Given the description of an element on the screen output the (x, y) to click on. 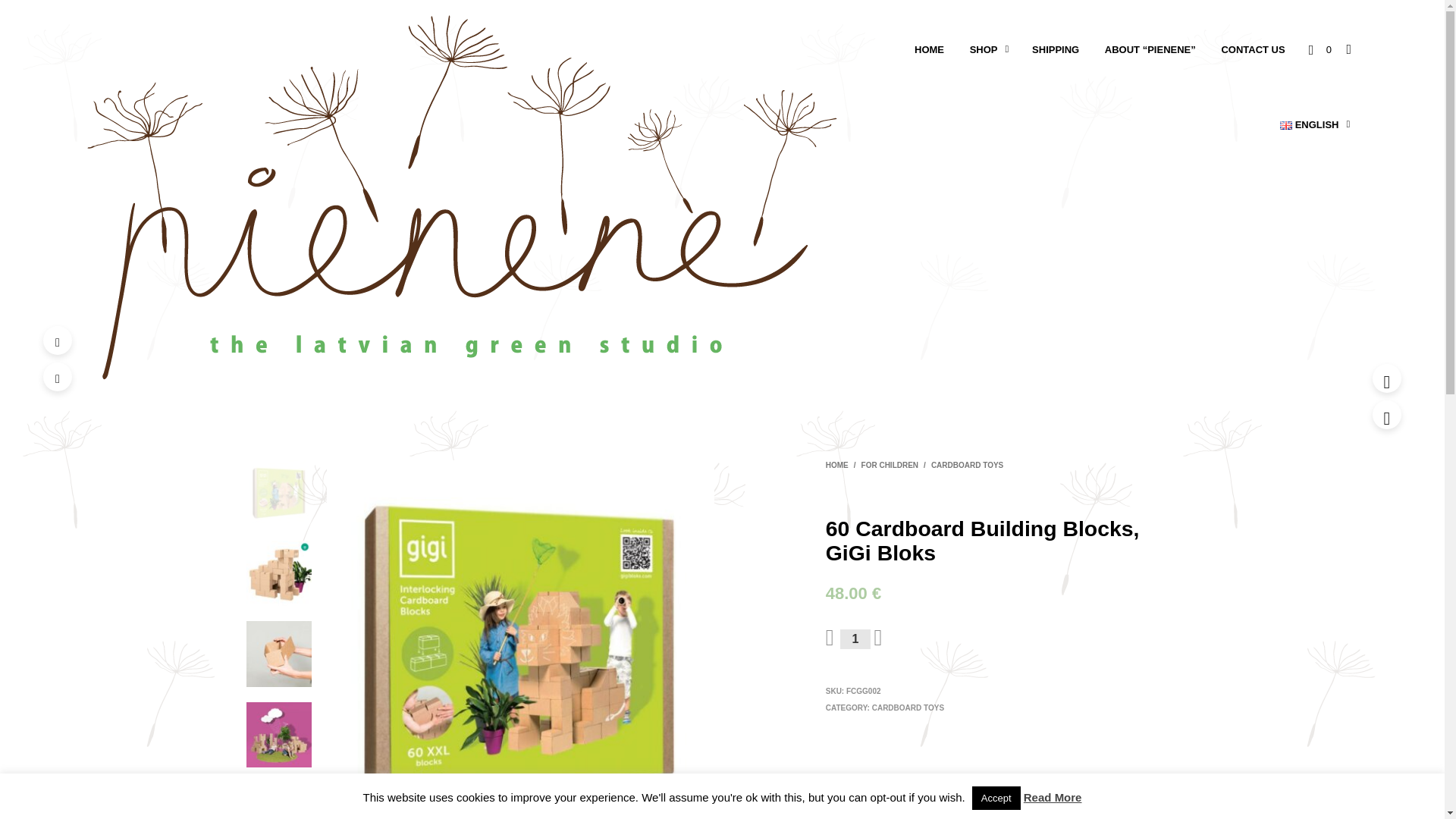
ADD TO BASKET (990, 639)
CARDBOARD TOYS (907, 707)
SHOP (983, 49)
0 (1320, 48)
SHIPPING (1055, 49)
CONTACT US (1252, 49)
1 (855, 639)
CARDBOARD TOYS (967, 465)
Qty (855, 639)
HOME (839, 465)
HOME (928, 49)
ENGLISH (1309, 124)
FOR CHILDREN (890, 465)
